Given the description of an element on the screen output the (x, y) to click on. 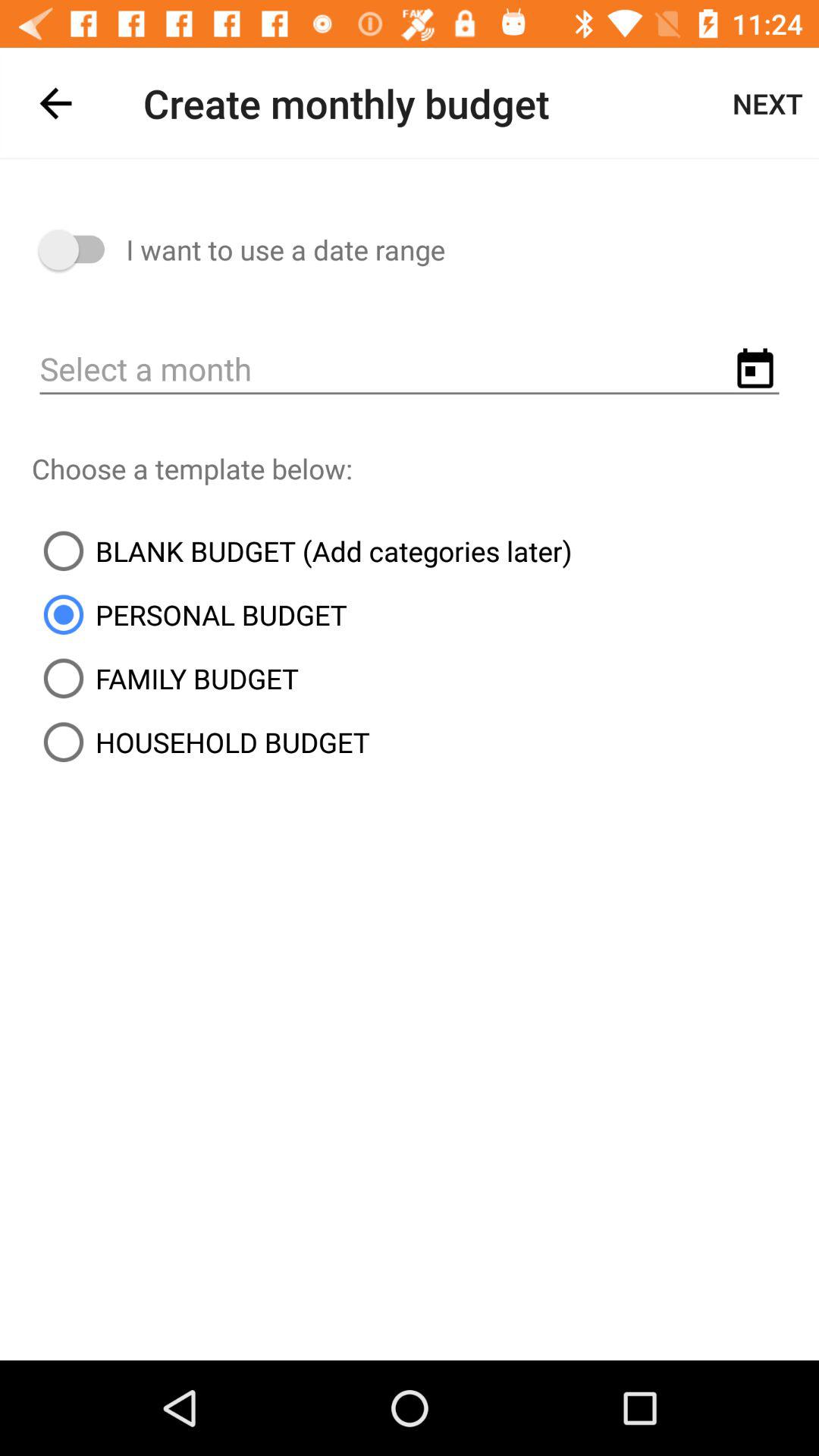
open the item below the personal budget icon (164, 678)
